Given the description of an element on the screen output the (x, y) to click on. 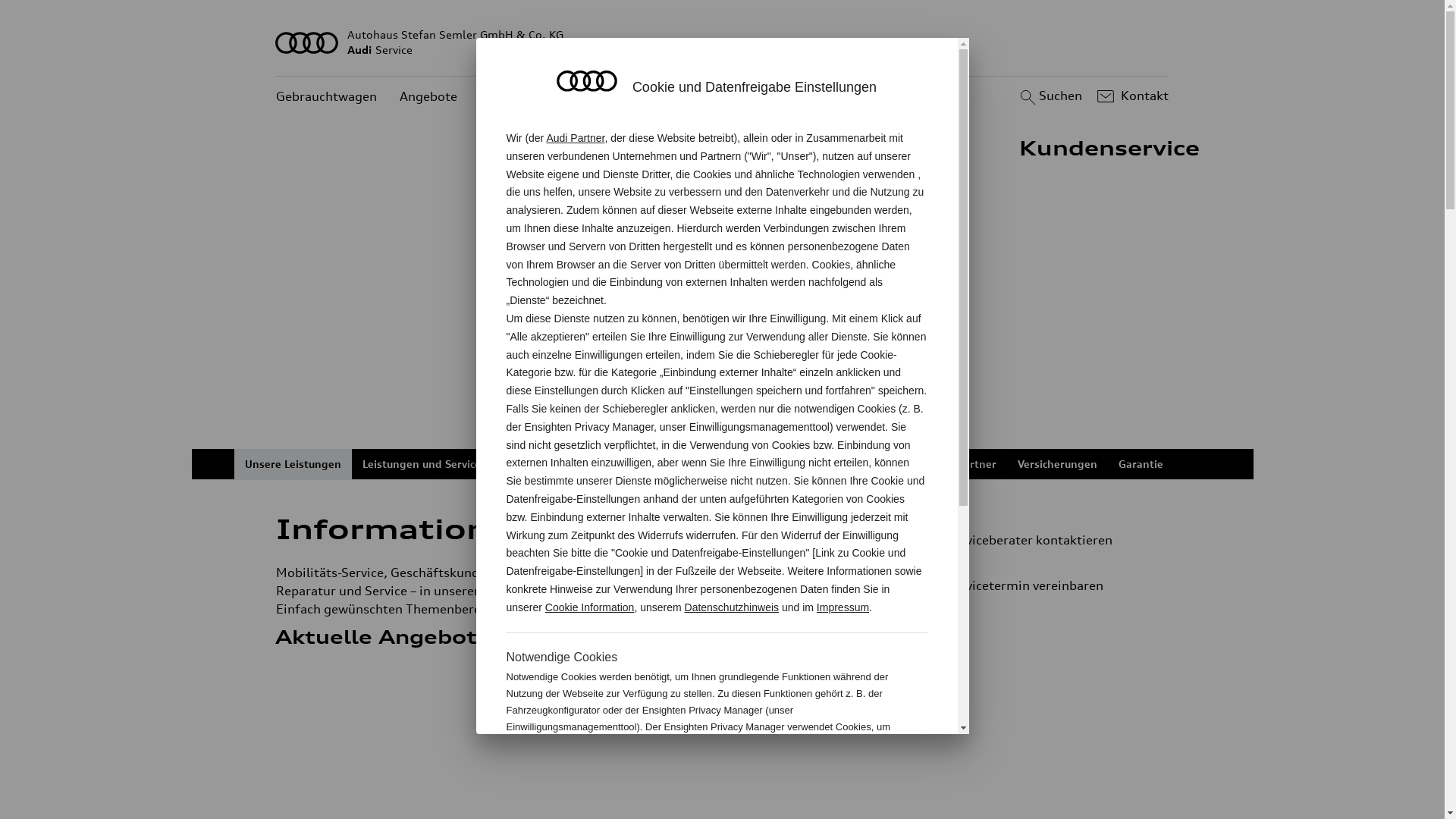
Suchen Element type: text (1049, 96)
Kontakt Element type: text (1130, 96)
Angebote Element type: text (428, 96)
Unsere Leistungen Element type: text (292, 463)
Garantie Element type: text (1140, 463)
Kundenservice Element type: text (523, 96)
Serviceberater kontaktieren Element type: text (1038, 539)
Reparatur und Wartung Element type: text (567, 463)
Ihre Ansprechpartner Element type: text (939, 463)
Cookie Information Element type: text (589, 607)
Leistungen und Services Element type: text (423, 463)
Audi Partner Element type: text (575, 137)
Audi Kundendialog Element type: text (813, 463)
Impressum Element type: text (842, 607)
Autohaus Stefan Semler GmbH & Co. KG
AudiService Element type: text (722, 42)
Datenschutzhinweis Element type: text (731, 607)
Servicetermin vereinbaren Element type: text (1044, 585)
Versicherungen Element type: text (1057, 463)
Gebrauchtwagen Element type: text (326, 96)
Cookie Information Element type: text (847, 776)
